Given the description of an element on the screen output the (x, y) to click on. 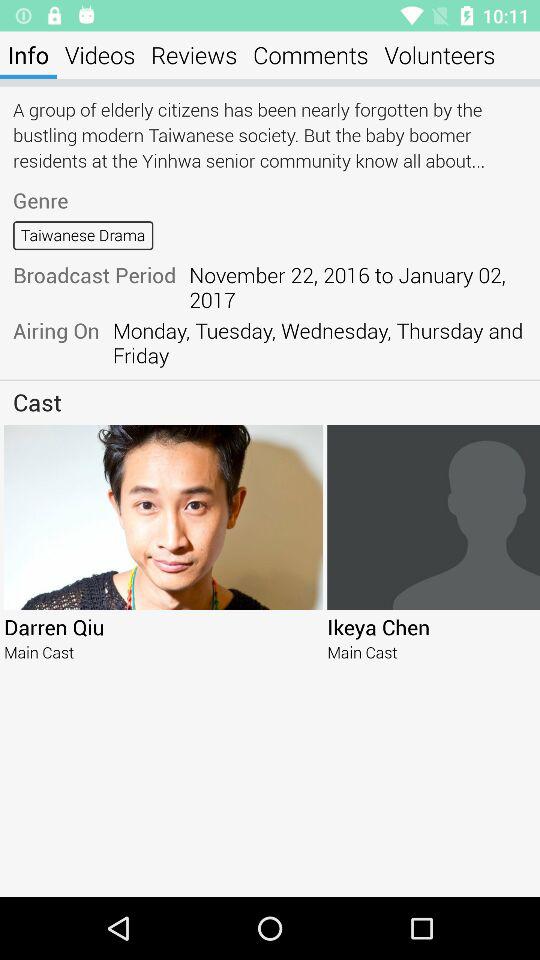
choose the icon next to the comments item (439, 54)
